Given the description of an element on the screen output the (x, y) to click on. 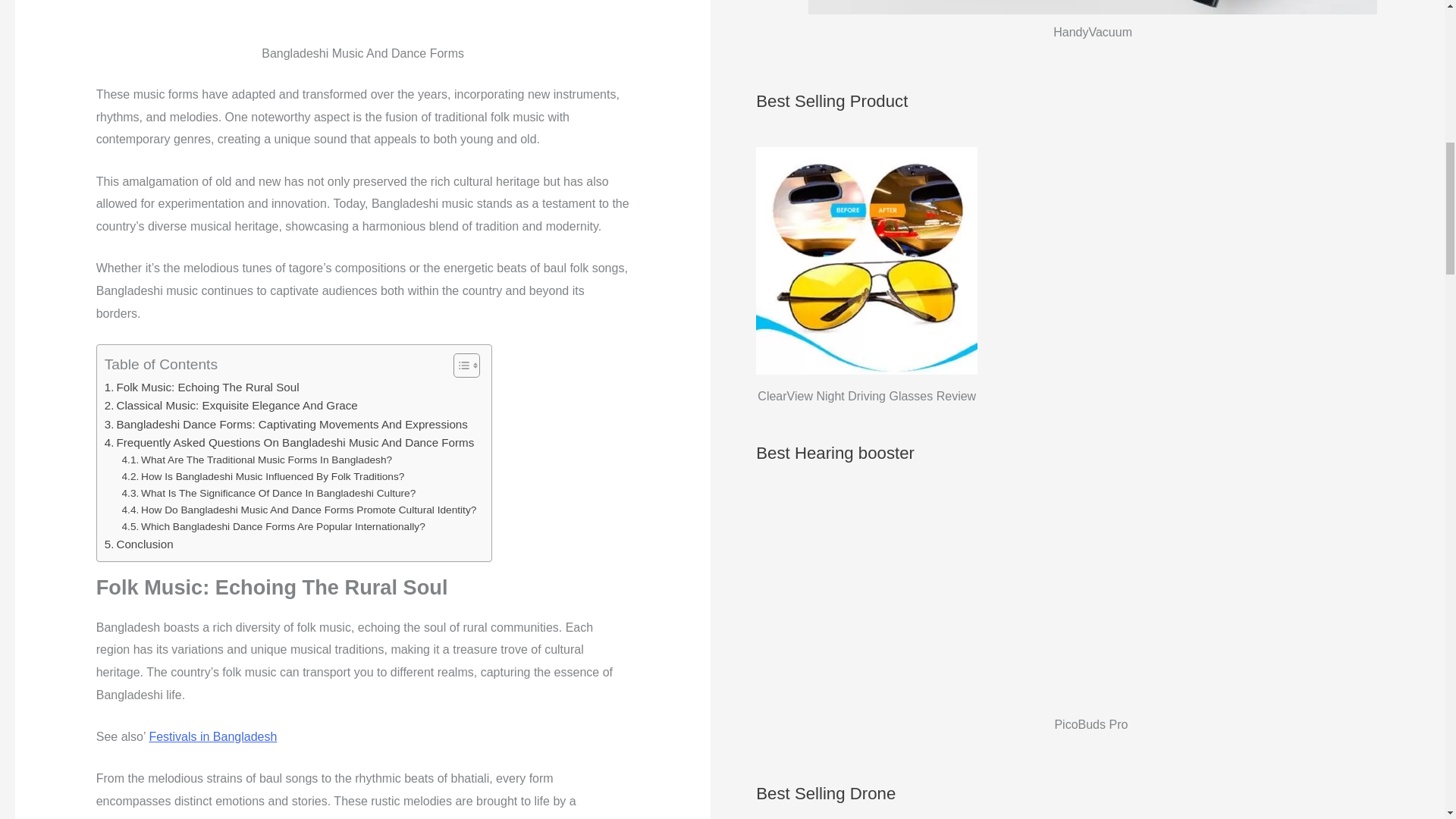
Folk Music: Echoing The Rural Soul (201, 387)
How Is Bangladeshi Music Influenced By Folk Traditions? (263, 476)
What Is The Significance Of Dance In Bangladeshi Culture? (269, 493)
Which Bangladeshi Dance Forms Are Popular Internationally? (273, 526)
Classical Music: Exquisite Elegance And Grace (231, 405)
Conclusion (138, 544)
What Are The Traditional Music Forms In Bangladesh? (257, 460)
